Given the description of an element on the screen output the (x, y) to click on. 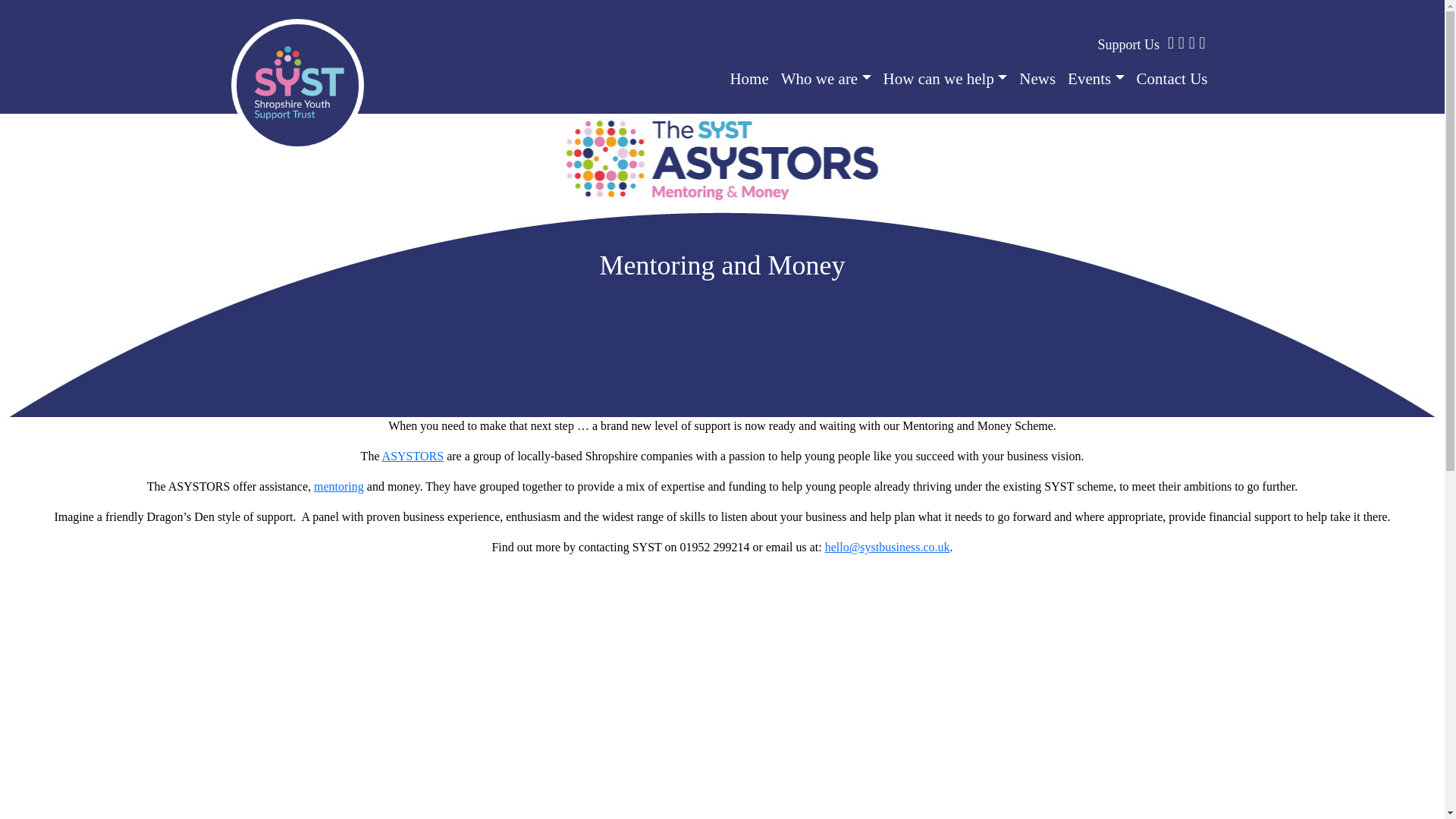
Events (1096, 79)
Support Us (1127, 44)
mentoring (339, 486)
How can we help (945, 79)
Home (748, 79)
News (1037, 79)
ASYSTORS (412, 455)
Who we are (825, 79)
Contact Us (1169, 79)
